Given the description of an element on the screen output the (x, y) to click on. 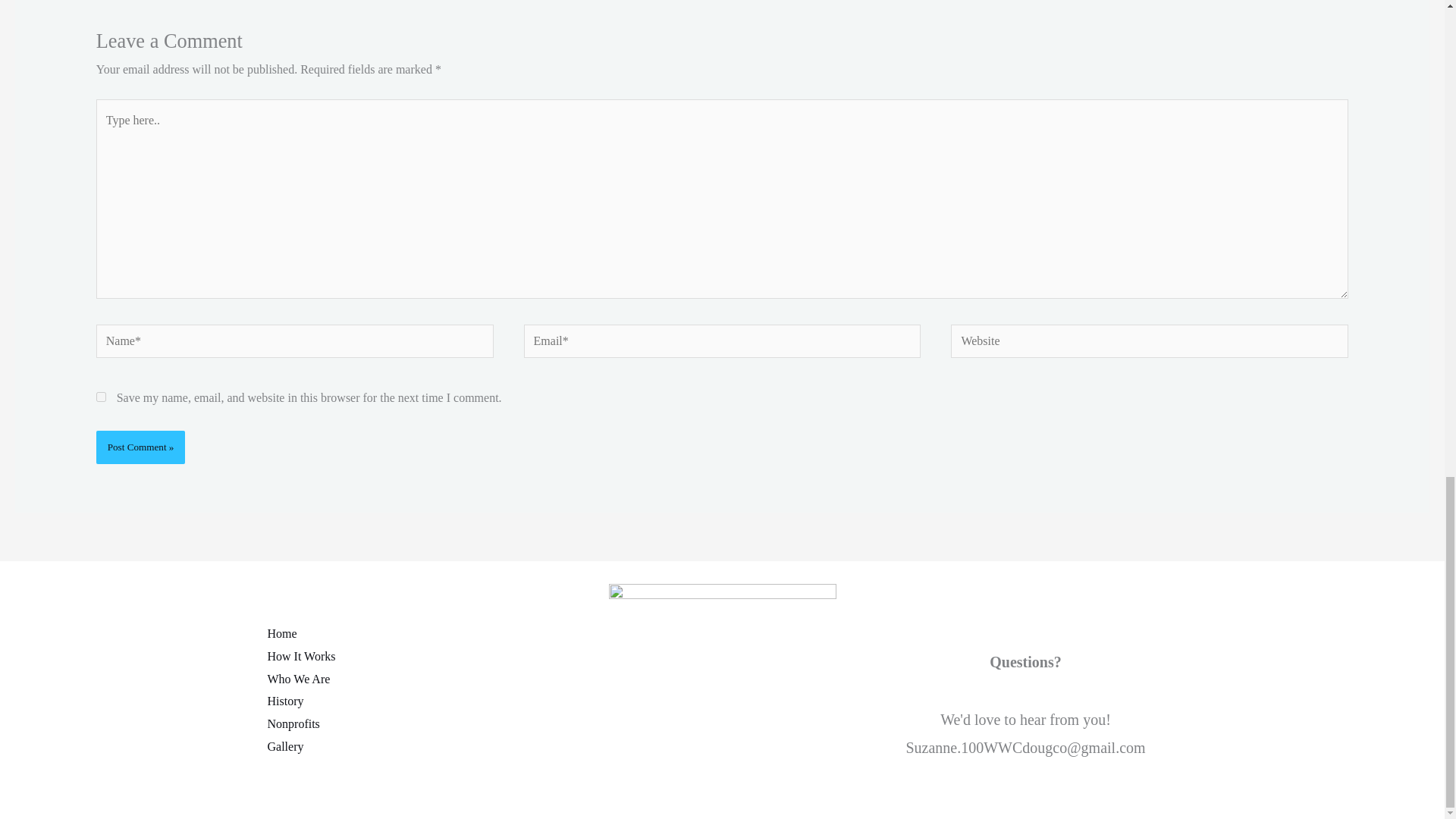
History (290, 701)
yes (101, 397)
Who We Are (303, 679)
Home (286, 633)
How It Works (306, 656)
Gallery (290, 746)
Nonprofits (298, 723)
